Given the description of an element on the screen output the (x, y) to click on. 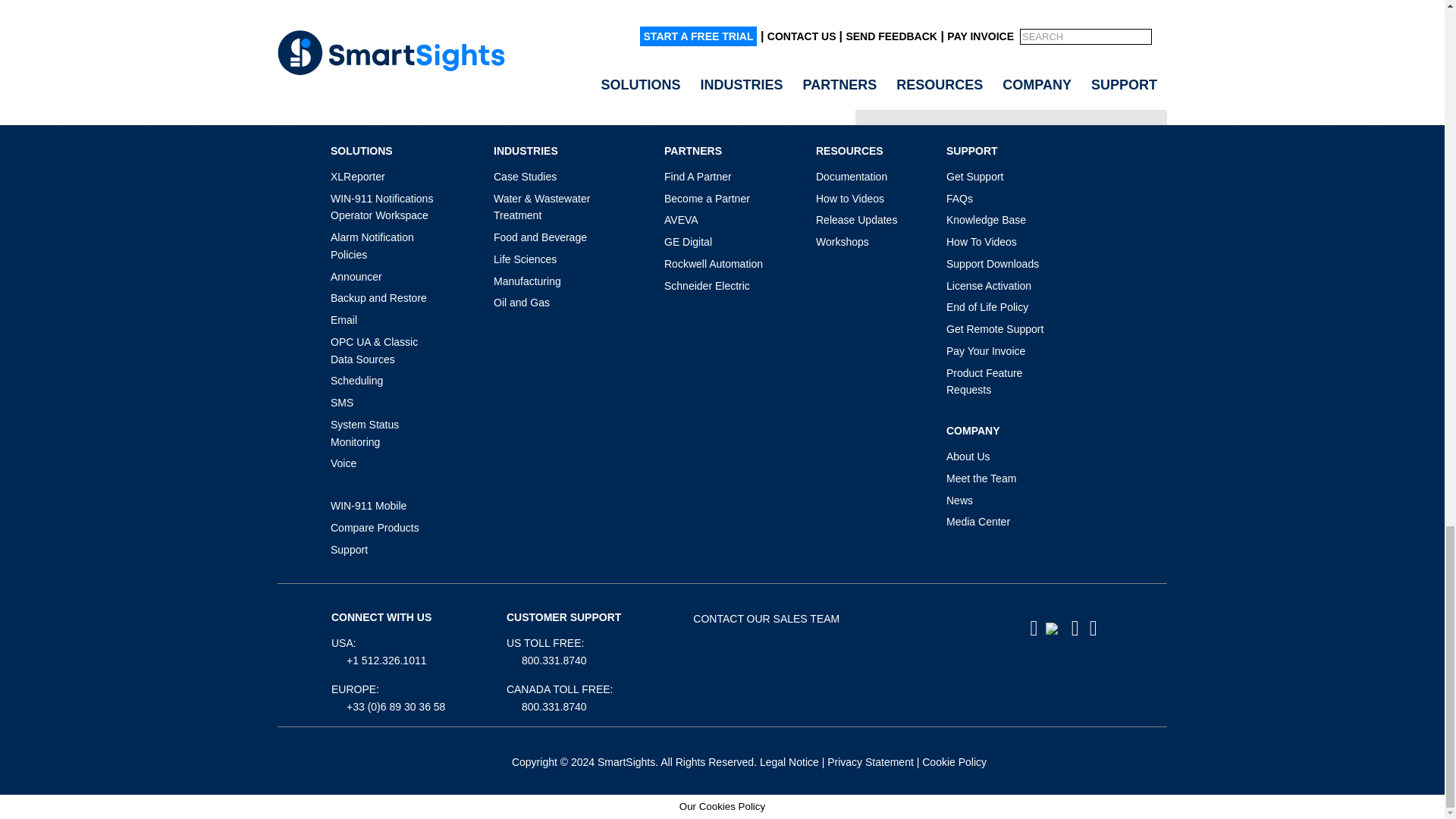
Privacy Statement (870, 761)
Cookie Policy (954, 761)
